Given the description of an element on the screen output the (x, y) to click on. 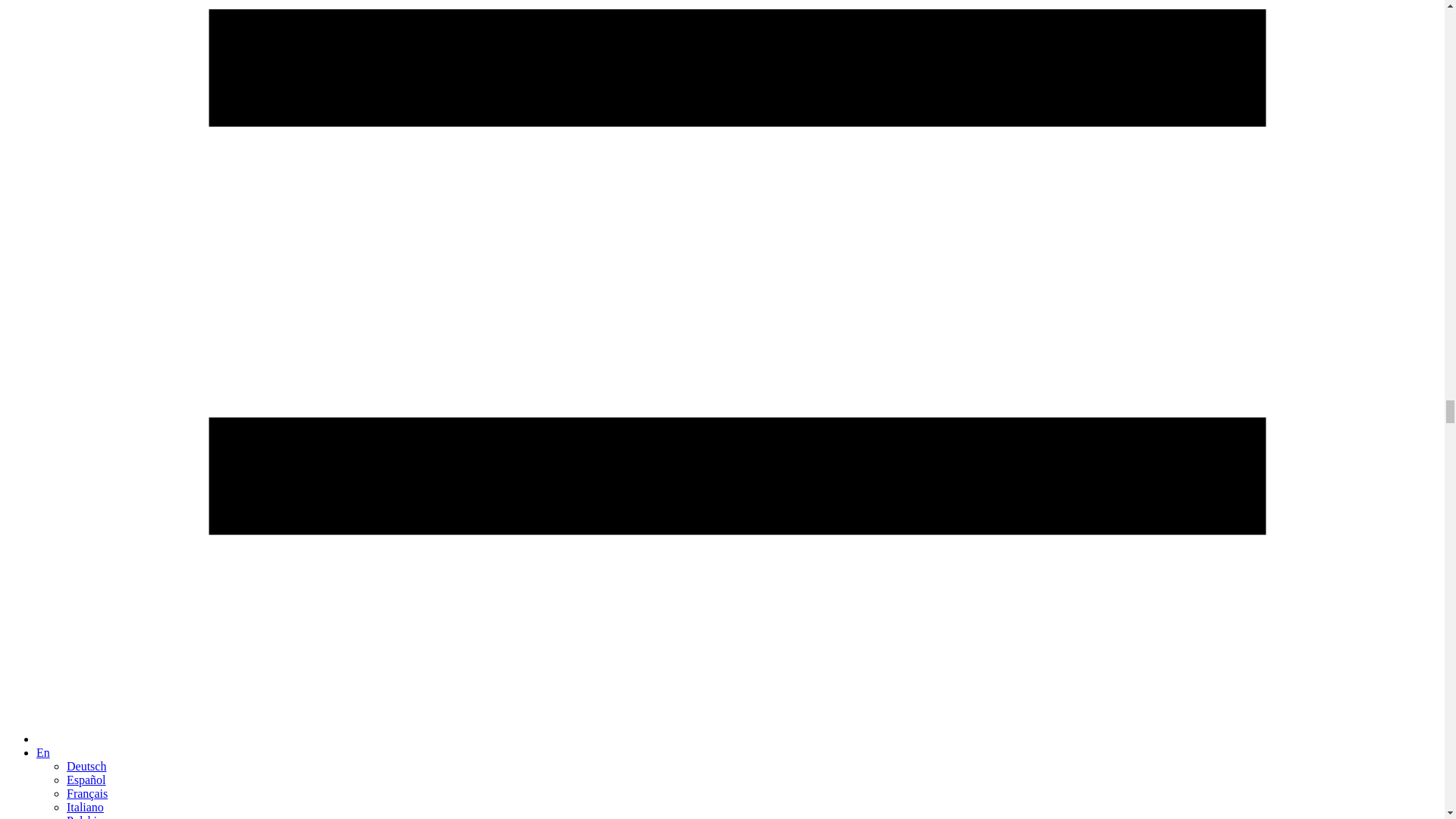
Italiano (84, 807)
Deutsch (86, 766)
Polski (81, 816)
En (42, 752)
